Given the description of an element on the screen output the (x, y) to click on. 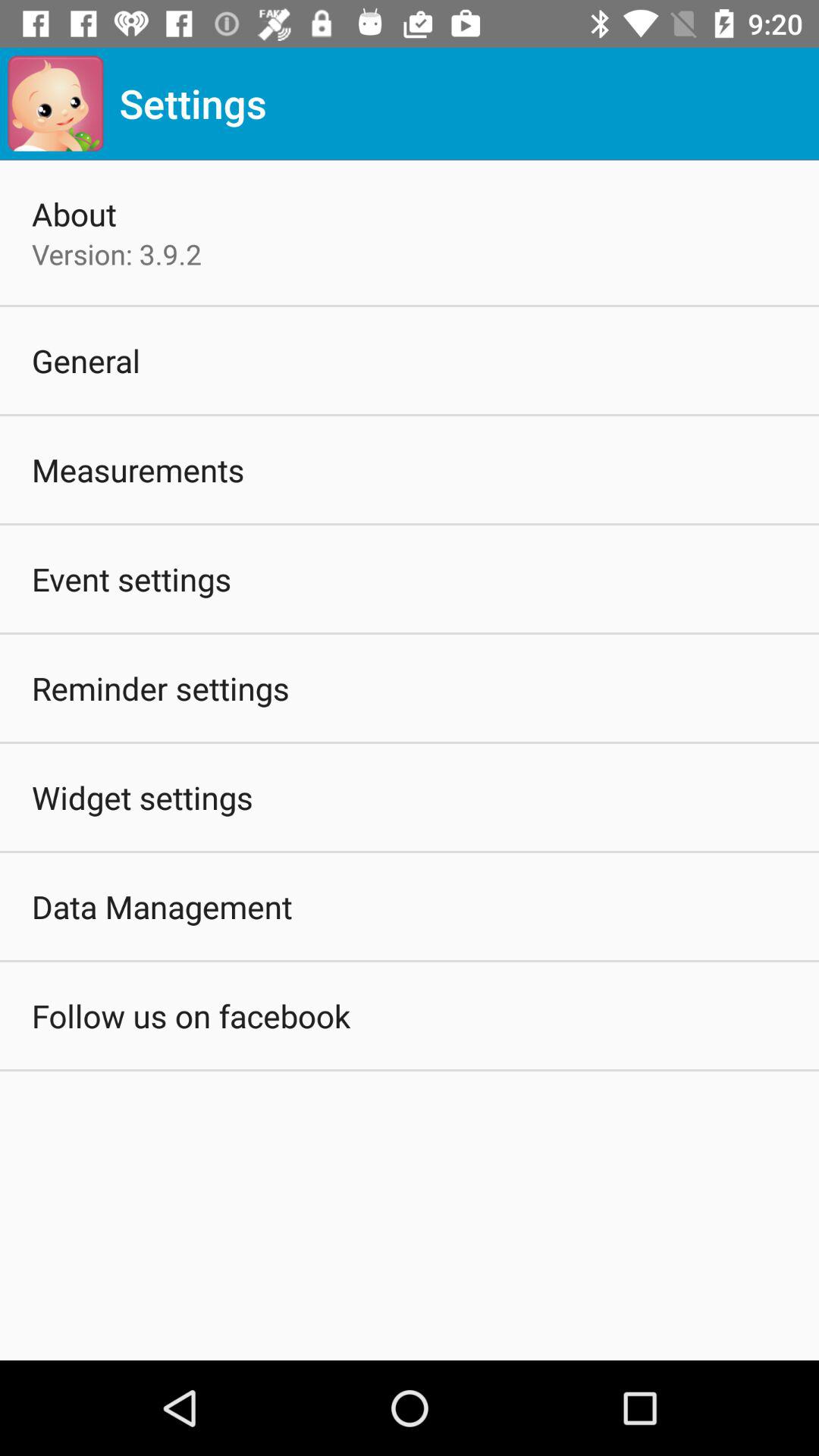
launch the event settings icon (131, 578)
